Given the description of an element on the screen output the (x, y) to click on. 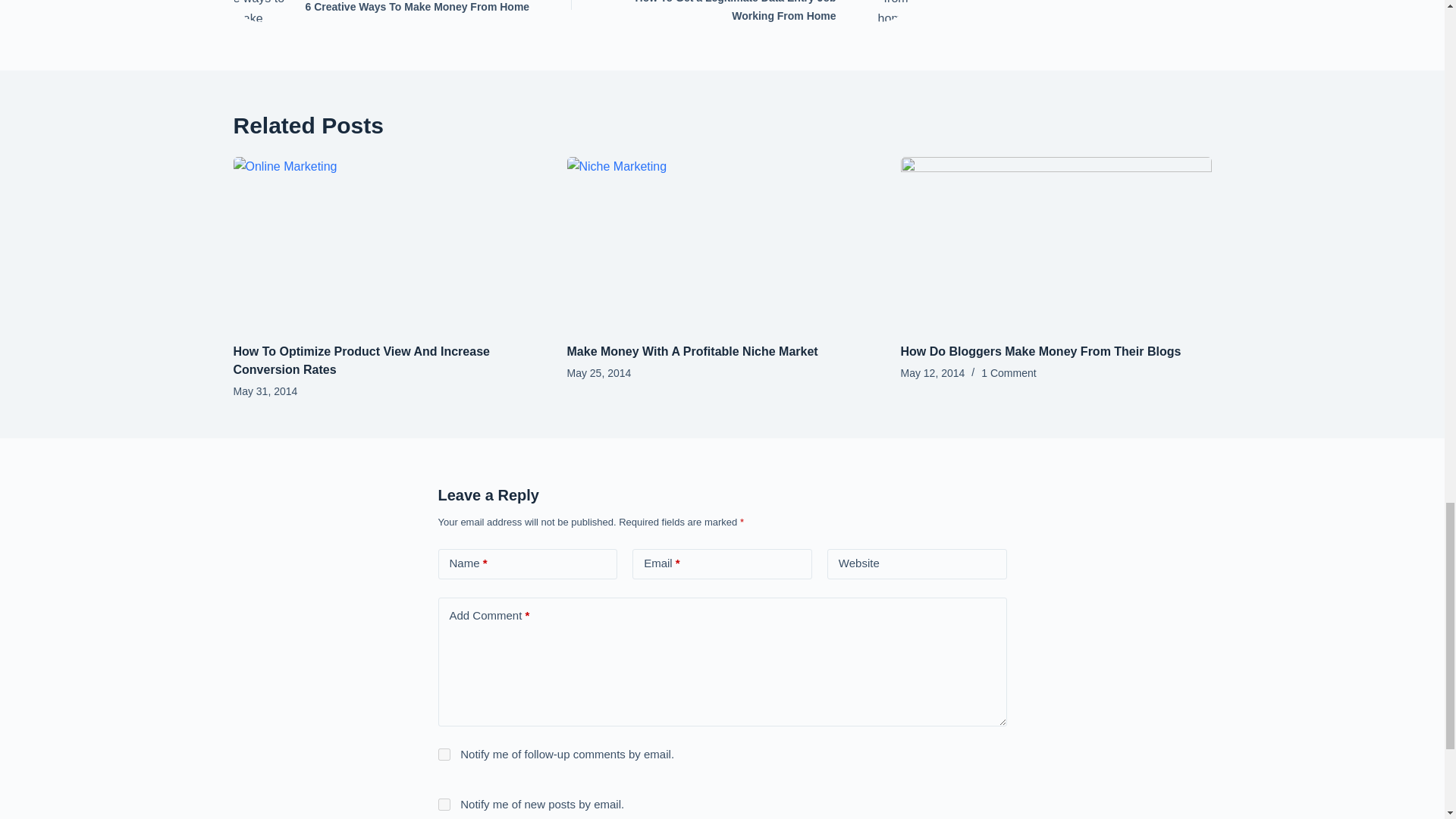
subscribe (443, 754)
subscribe (443, 804)
How To Optimize Product View And Increase Conversion Rates (387, 12)
